Given the description of an element on the screen output the (x, y) to click on. 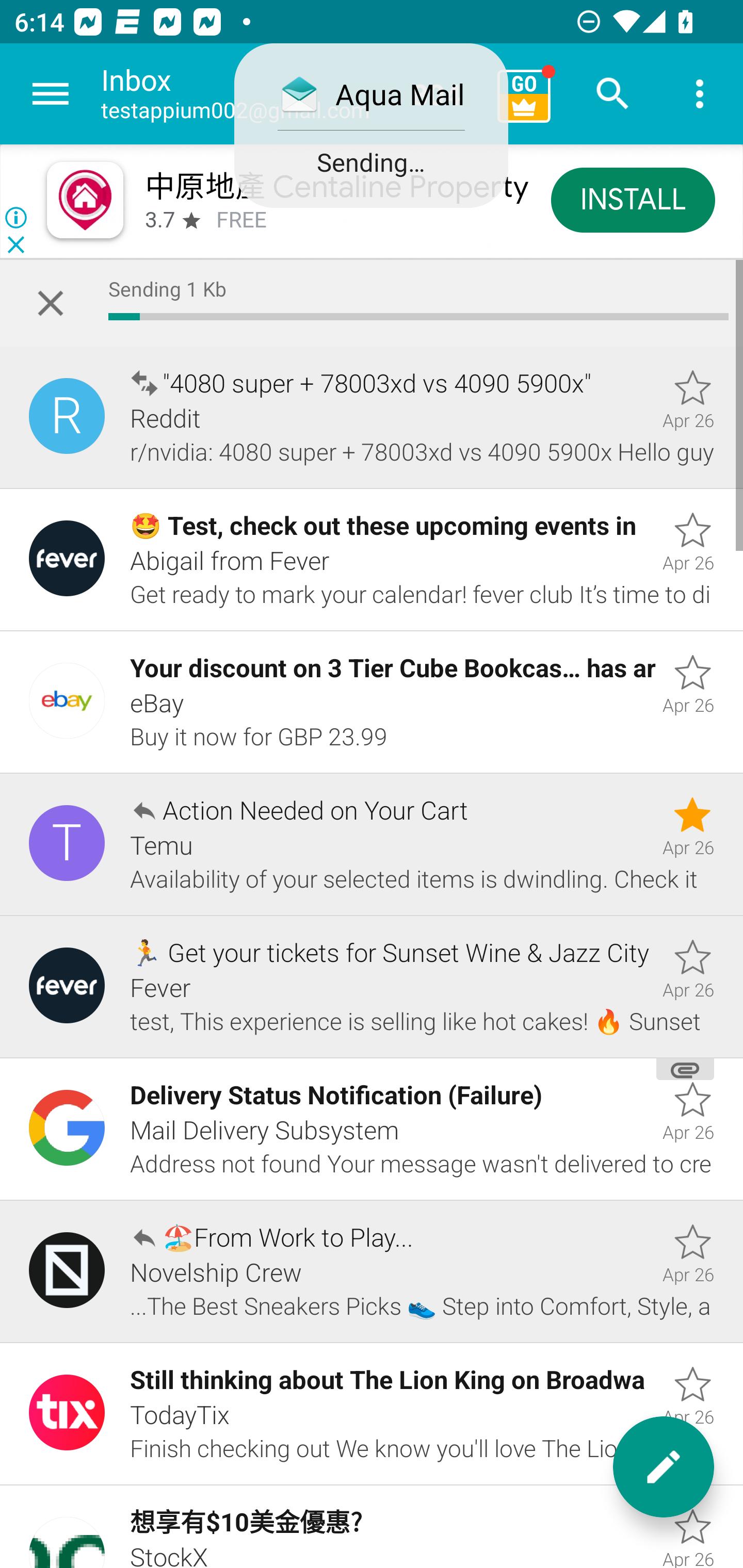
Navigate up (50, 93)
Inbox testappium002@gmail.com 804 (291, 93)
Search (612, 93)
More options (699, 93)
INSTALL (632, 199)
3.7 (158, 220)
FREE (241, 220)
Sending 1 Kb 5.0 (371, 303)
New message (663, 1466)
Unread, 想享有$10美金優惠?, StockX, Apr 26 (371, 1526)
